Given the description of an element on the screen output the (x, y) to click on. 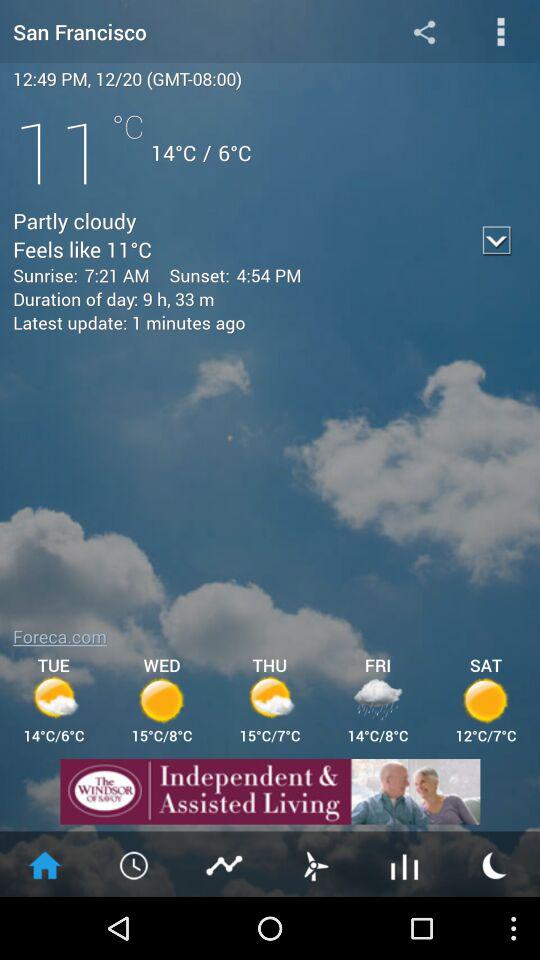
share data (424, 31)
